Given the description of an element on the screen output the (x, y) to click on. 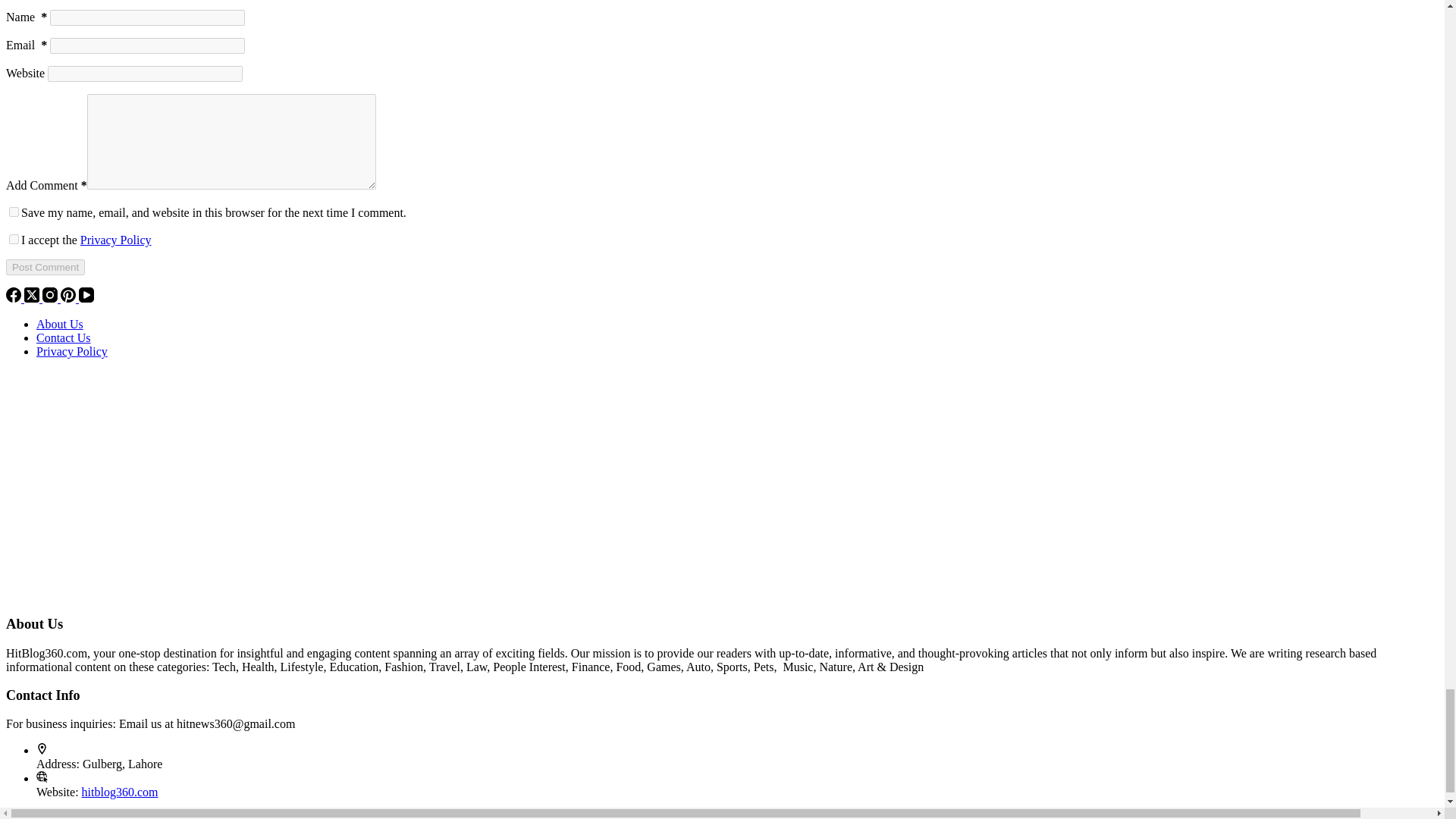
on (13, 239)
yes (13, 212)
